Given the description of an element on the screen output the (x, y) to click on. 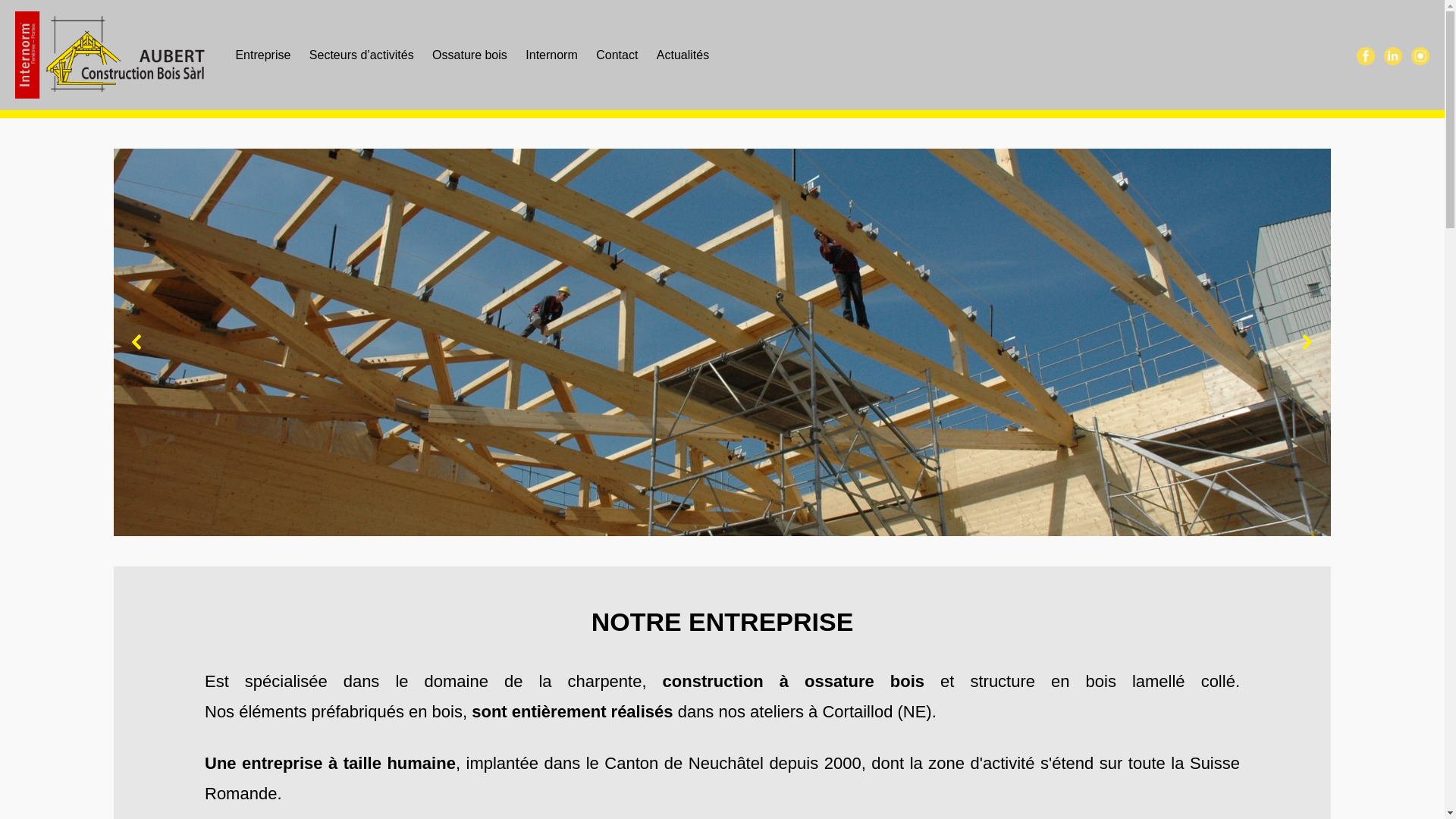
Contact Element type: text (616, 54)
Follow Us on Facebook Element type: hover (1365, 55)
Entreprise Element type: text (262, 54)
Follow Us on Instagram Element type: hover (1420, 55)
Follow Us on Linkedin Element type: hover (1392, 55)
Internorm Element type: text (550, 54)
Ossature bois Element type: text (469, 54)
